Given the description of an element on the screen output the (x, y) to click on. 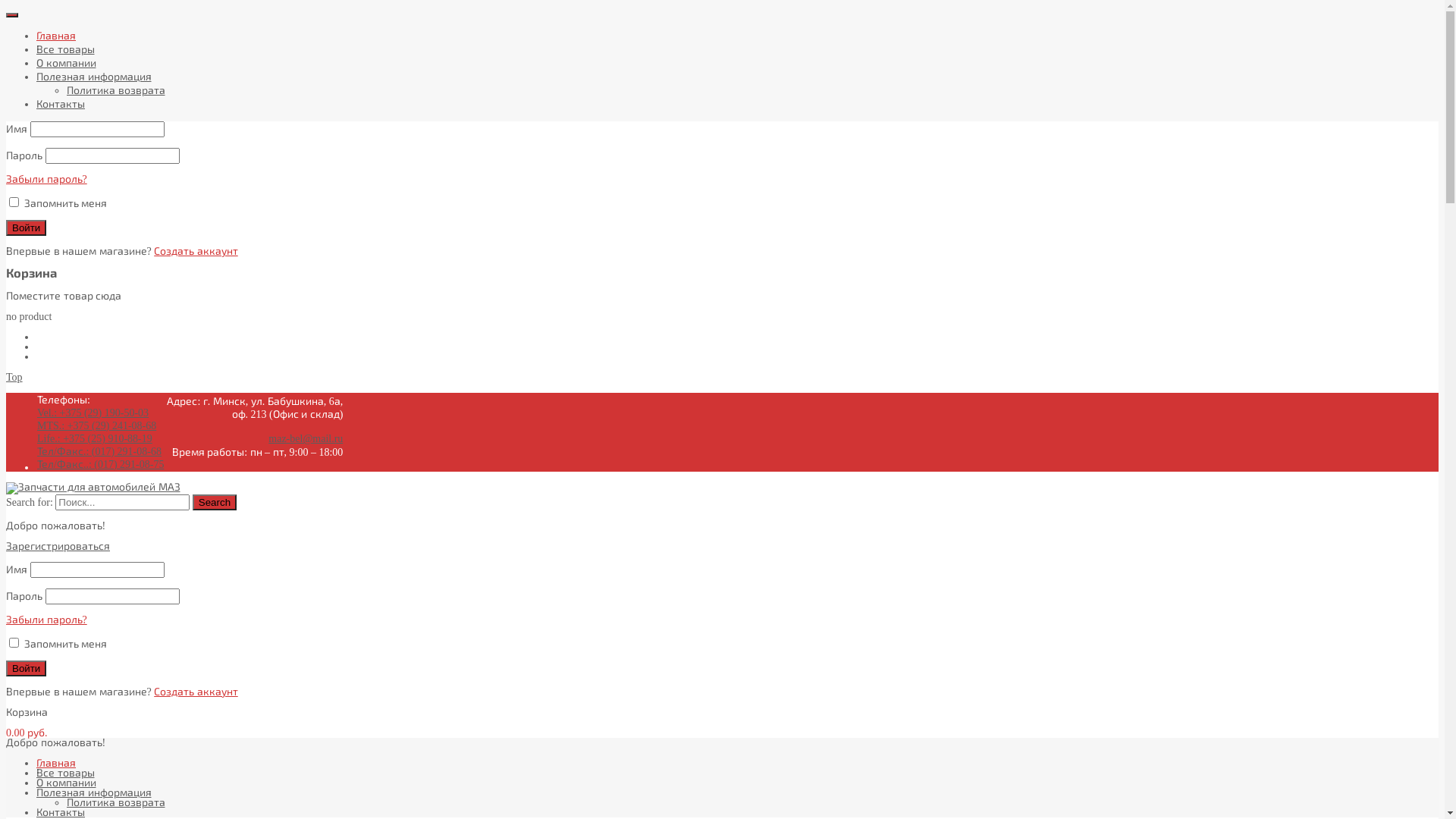
Top Element type: text (14, 376)
Life.: +375 (25) 910-88-19 Element type: text (94, 438)
Vel.: +375 (29) 190-50-03 Element type: text (92, 412)
maz-bel@mail.ru Element type: text (305, 438)
Search Element type: text (214, 502)
MTS.: +375 (29) 241-08-68 Element type: text (96, 425)
